Given the description of an element on the screen output the (x, y) to click on. 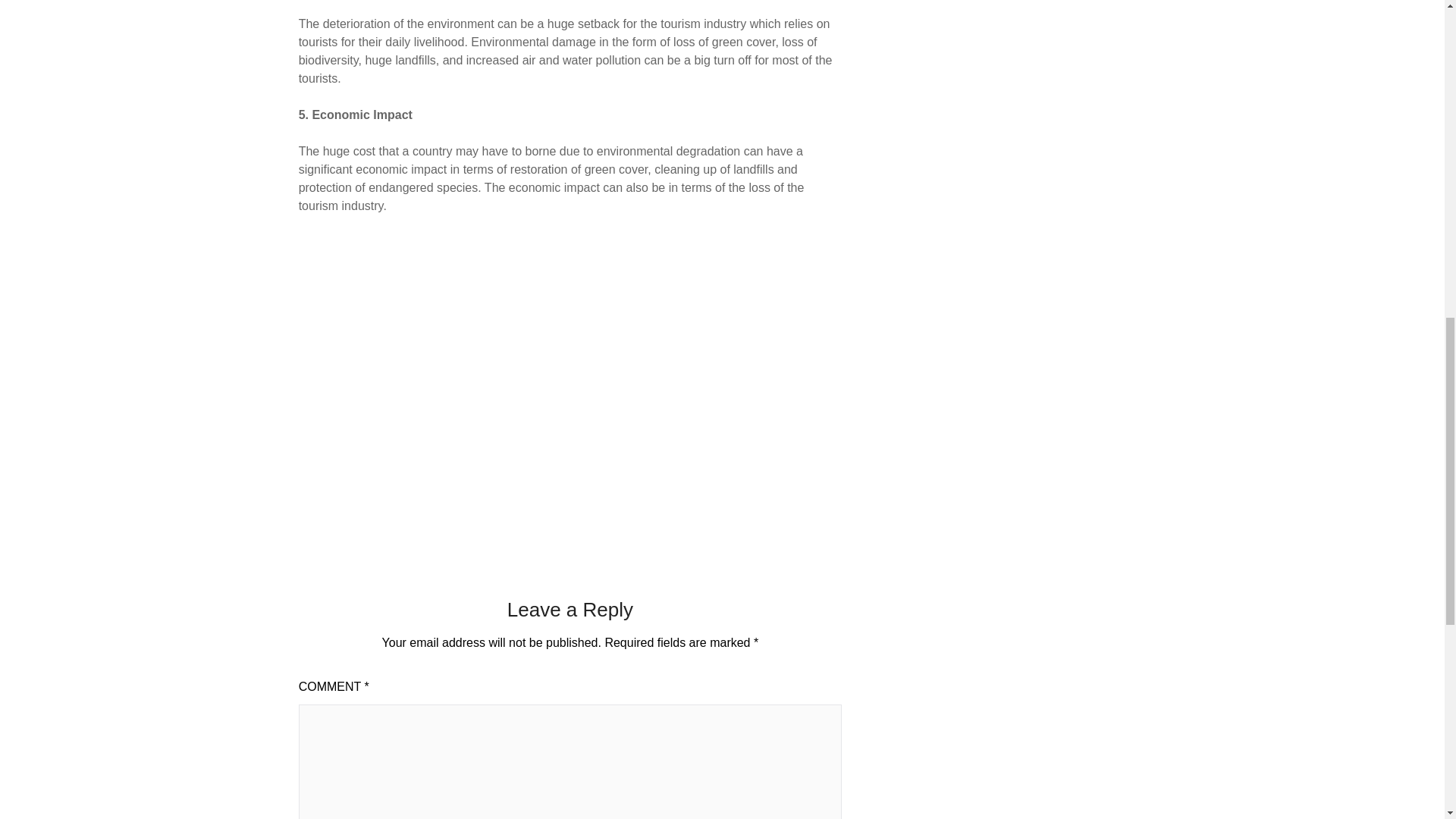
Effects of Environmental Degradation (541, 369)
